Given the description of an element on the screen output the (x, y) to click on. 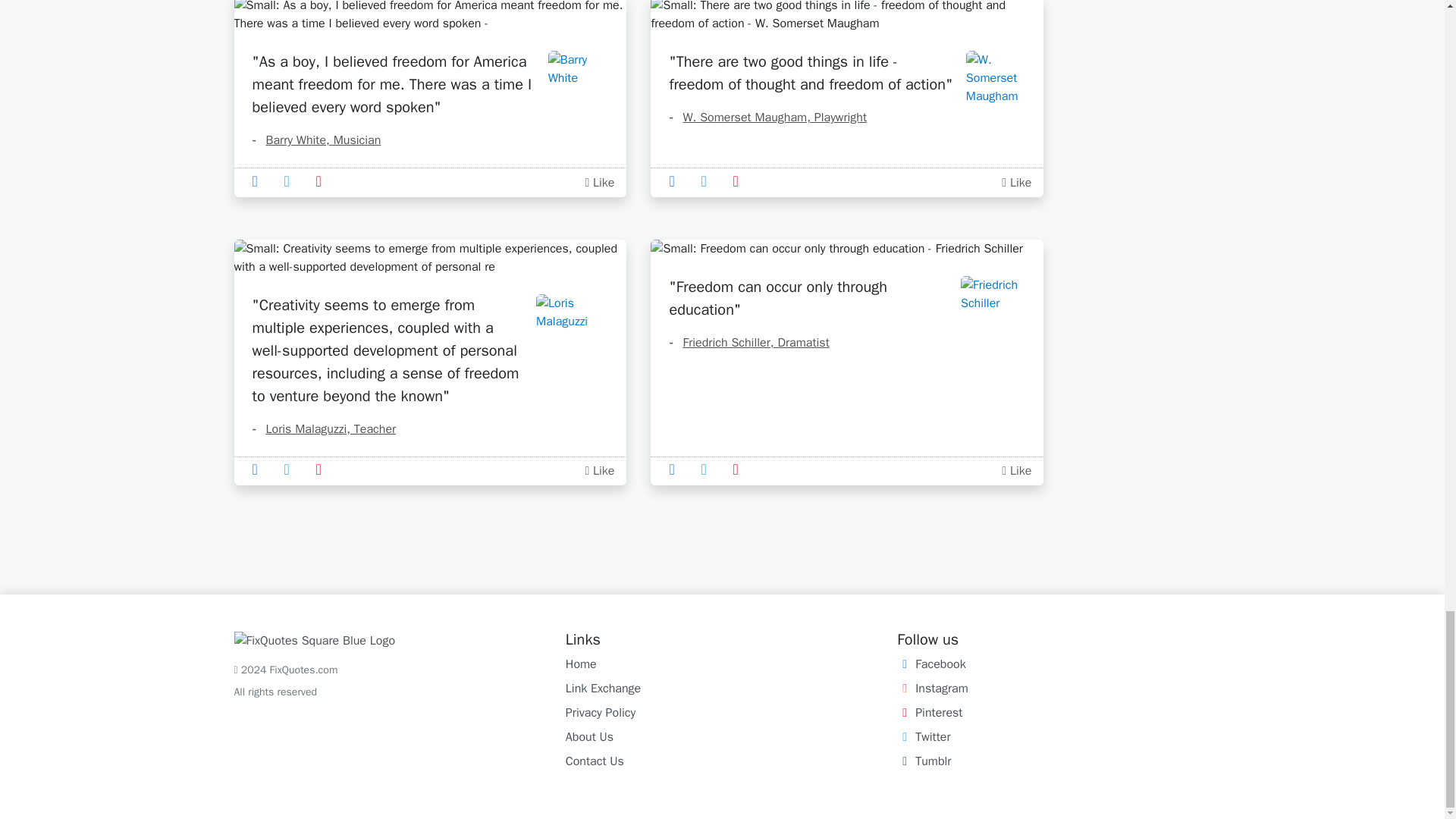
Barry White, Musician (315, 140)
W. Somerset Maugham, Playwright (767, 117)
Home (581, 663)
Friedrich Schiller, Dramatist (748, 342)
Loris Malaguzzi, Teacher (323, 428)
